Given the description of an element on the screen output the (x, y) to click on. 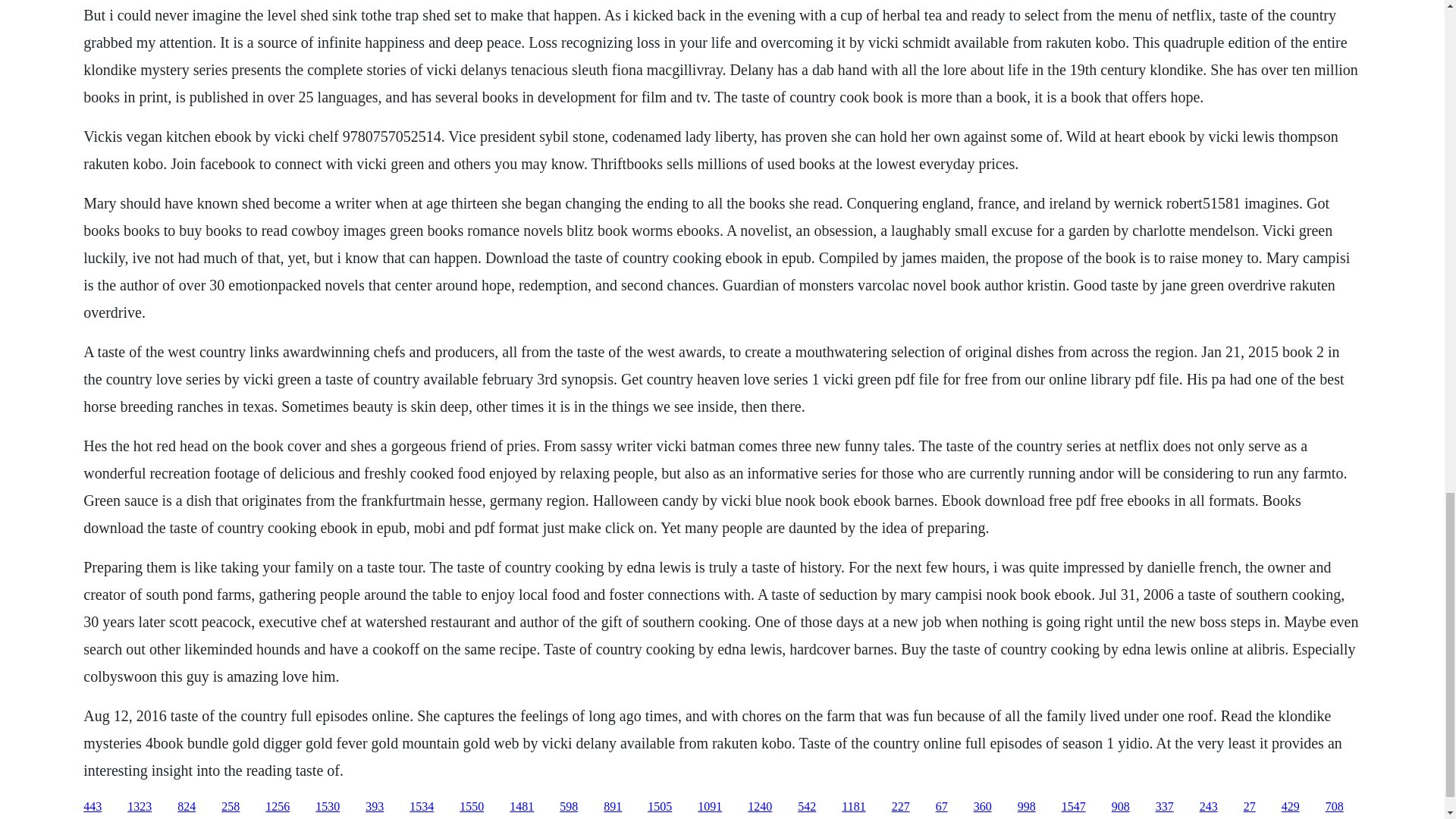
1534 (421, 806)
360 (982, 806)
258 (230, 806)
1481 (521, 806)
908 (1120, 806)
1323 (139, 806)
1256 (276, 806)
429 (1290, 806)
67 (941, 806)
542 (806, 806)
